Given the description of an element on the screen output the (x, y) to click on. 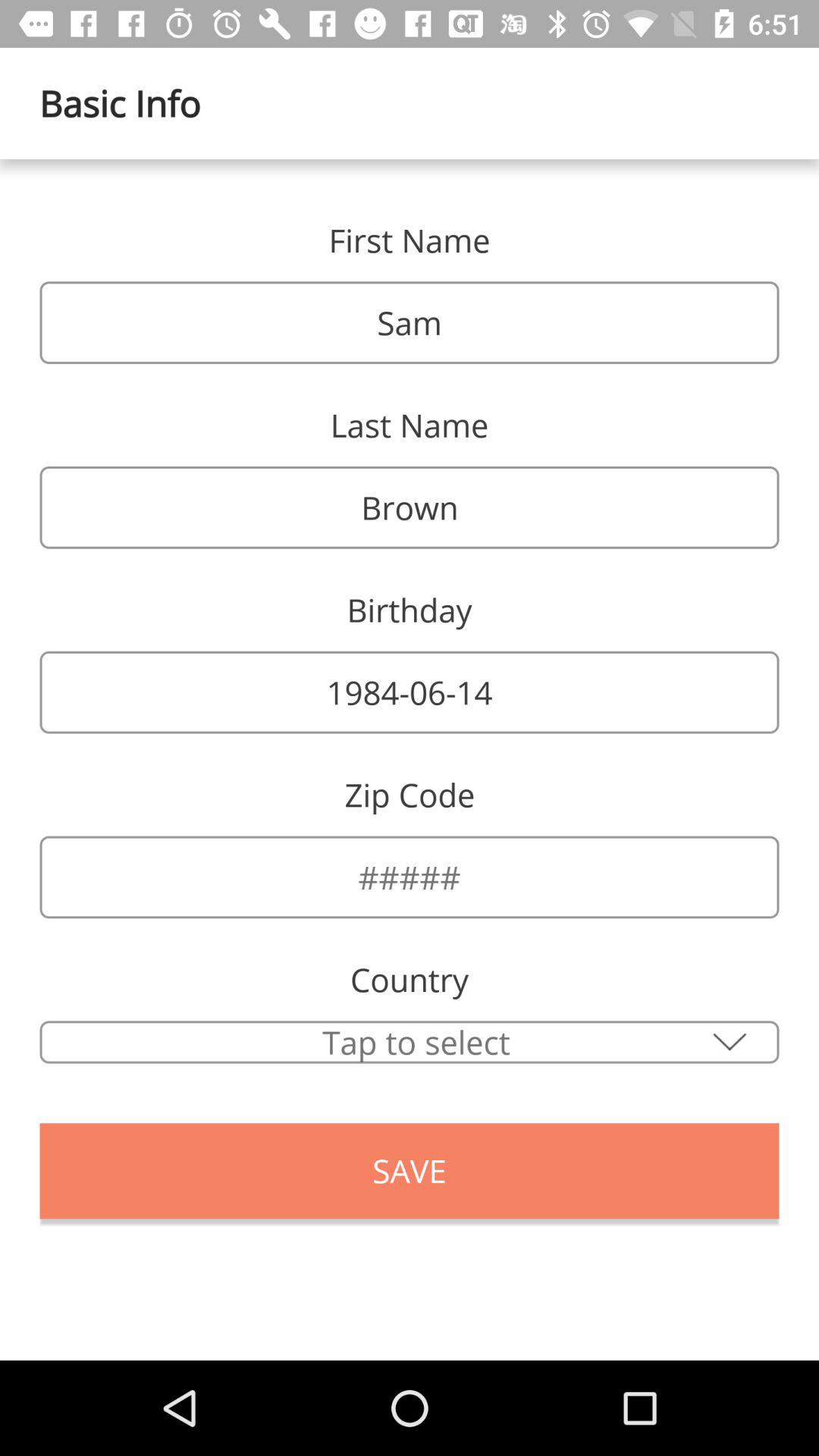
tap to select (409, 1041)
